Given the description of an element on the screen output the (x, y) to click on. 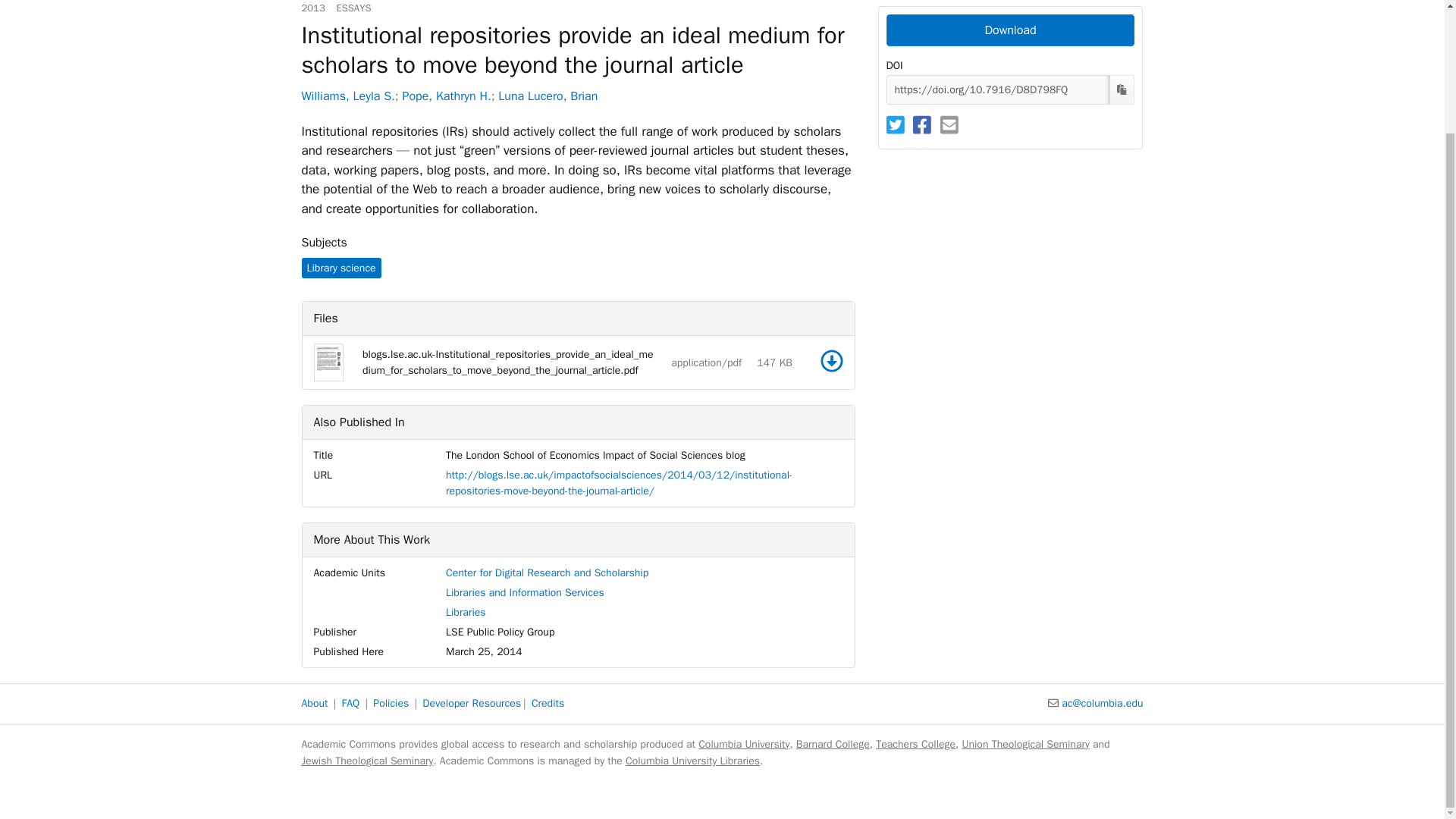
Libraries (465, 612)
Jewish Theological Seminary (367, 760)
Columbia University Libraries (693, 760)
Teachers College (915, 744)
Library science (341, 267)
Developer Resources (471, 703)
Download file (832, 360)
Download file (832, 360)
Columbia University (743, 744)
Luna Lucero, Brian (546, 95)
Union Theological Seminary (1024, 744)
About (315, 703)
Williams, Leyla S. (347, 95)
FAQ (349, 703)
Download (1009, 29)
